Given the description of an element on the screen output the (x, y) to click on. 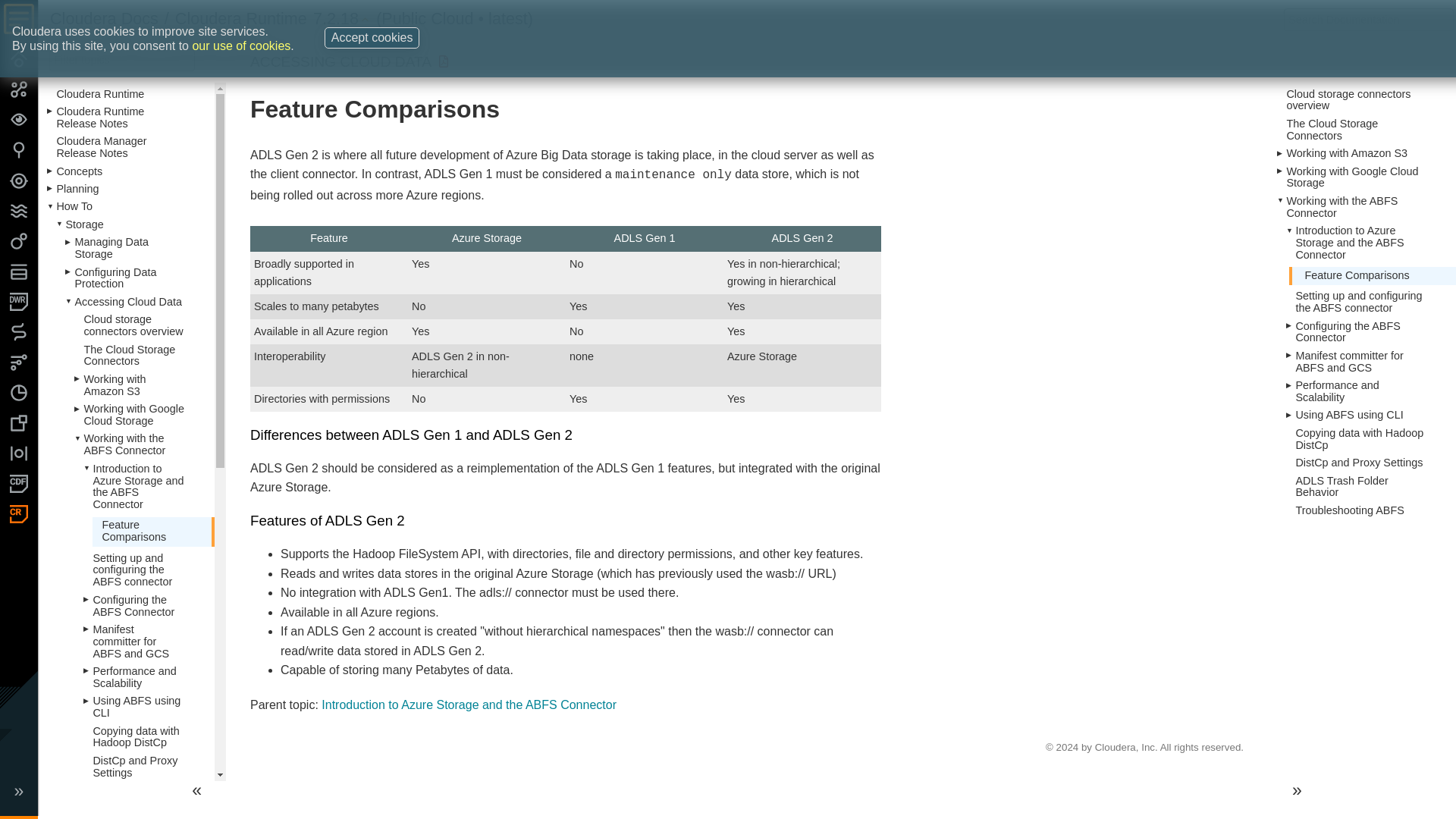
Cloudera Runtime (240, 18)
Cloudera Docs (103, 18)
